Given the description of an element on the screen output the (x, y) to click on. 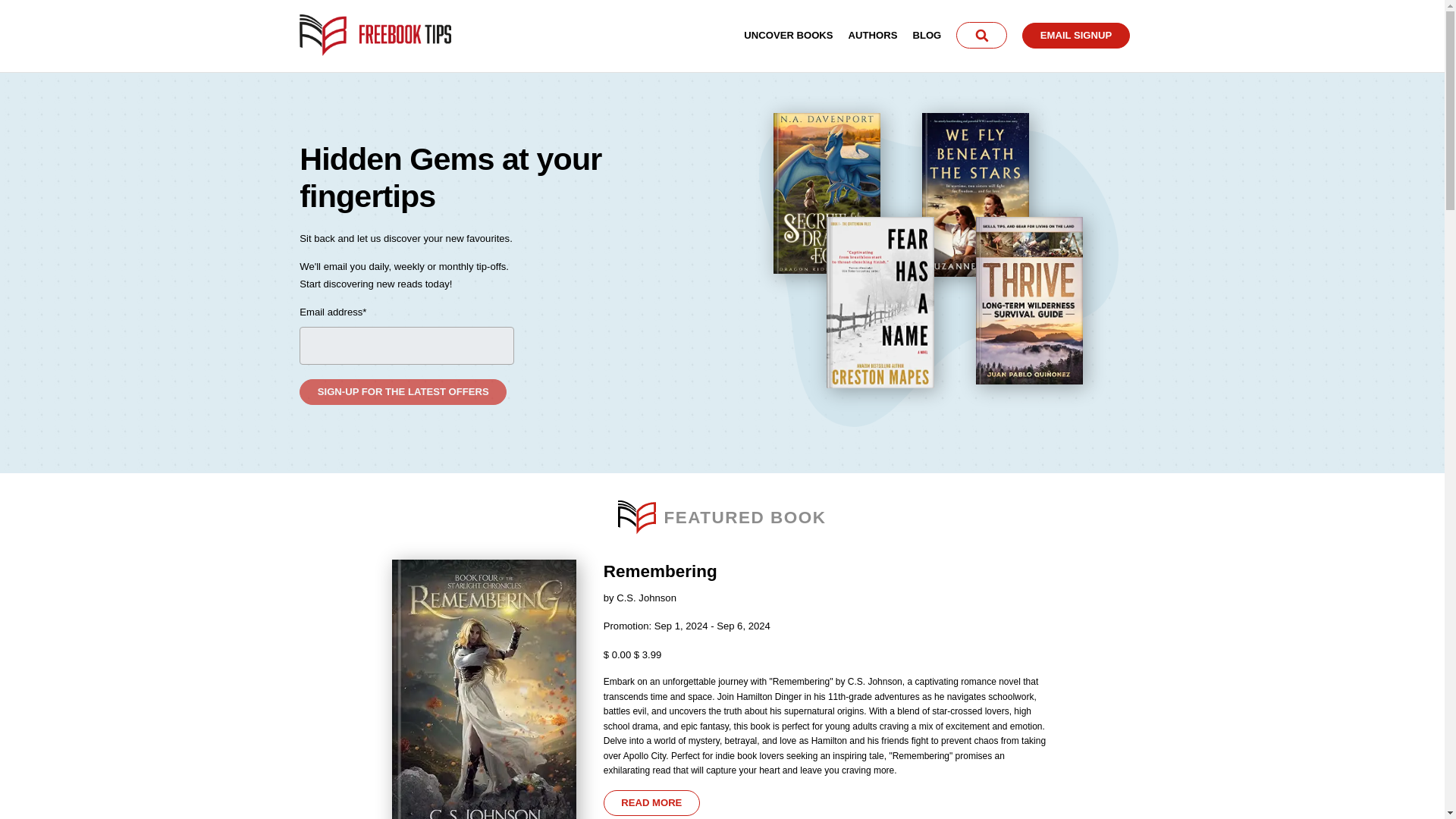
SIGN-UP FOR THE LATEST OFFERS (402, 391)
READ MORE (652, 802)
UNCOVER BOOKS (788, 34)
AUTHORS (873, 34)
BLOG (926, 34)
EMAIL SIGNUP (1075, 35)
